Given the description of an element on the screen output the (x, y) to click on. 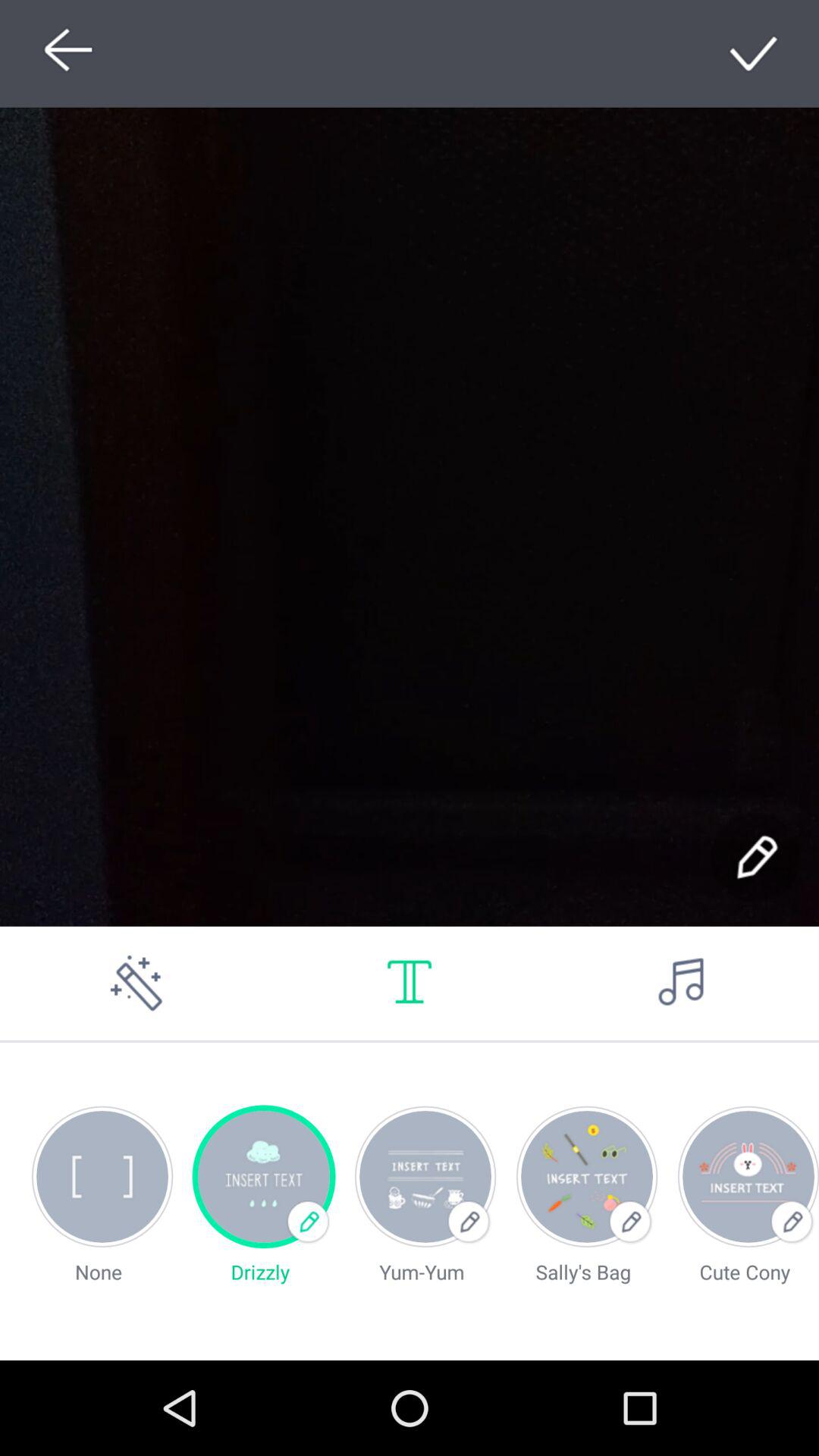
draw image (136, 983)
